Given the description of an element on the screen output the (x, y) to click on. 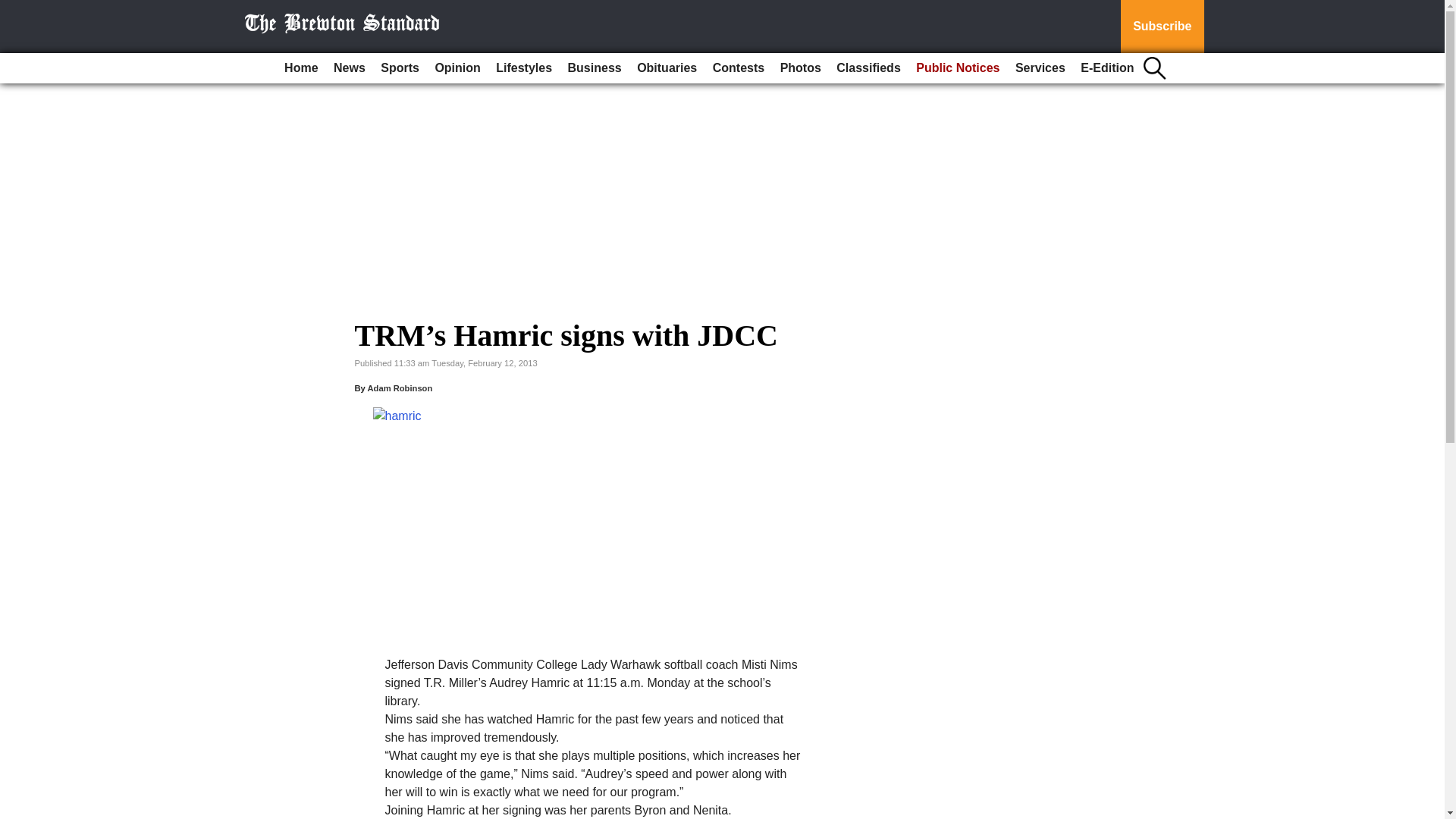
E-Edition (1107, 68)
Home (300, 68)
Subscribe (1162, 26)
Sports (399, 68)
Go (13, 9)
Classifieds (867, 68)
Business (594, 68)
Obituaries (666, 68)
Public Notices (958, 68)
Opinion (457, 68)
